Given the description of an element on the screen output the (x, y) to click on. 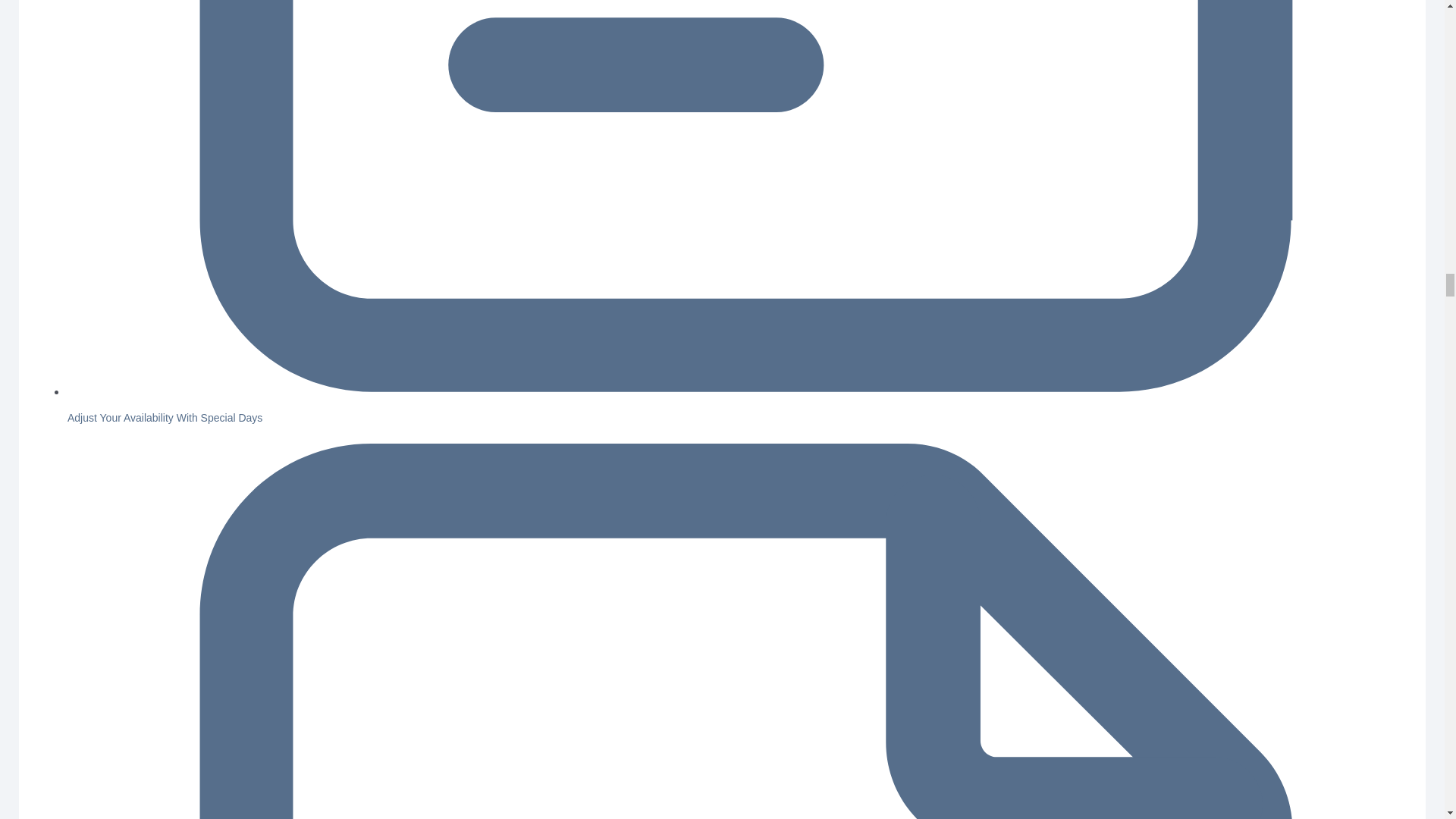
Adjust Your Availability With Special Days (164, 417)
